Given the description of an element on the screen output the (x, y) to click on. 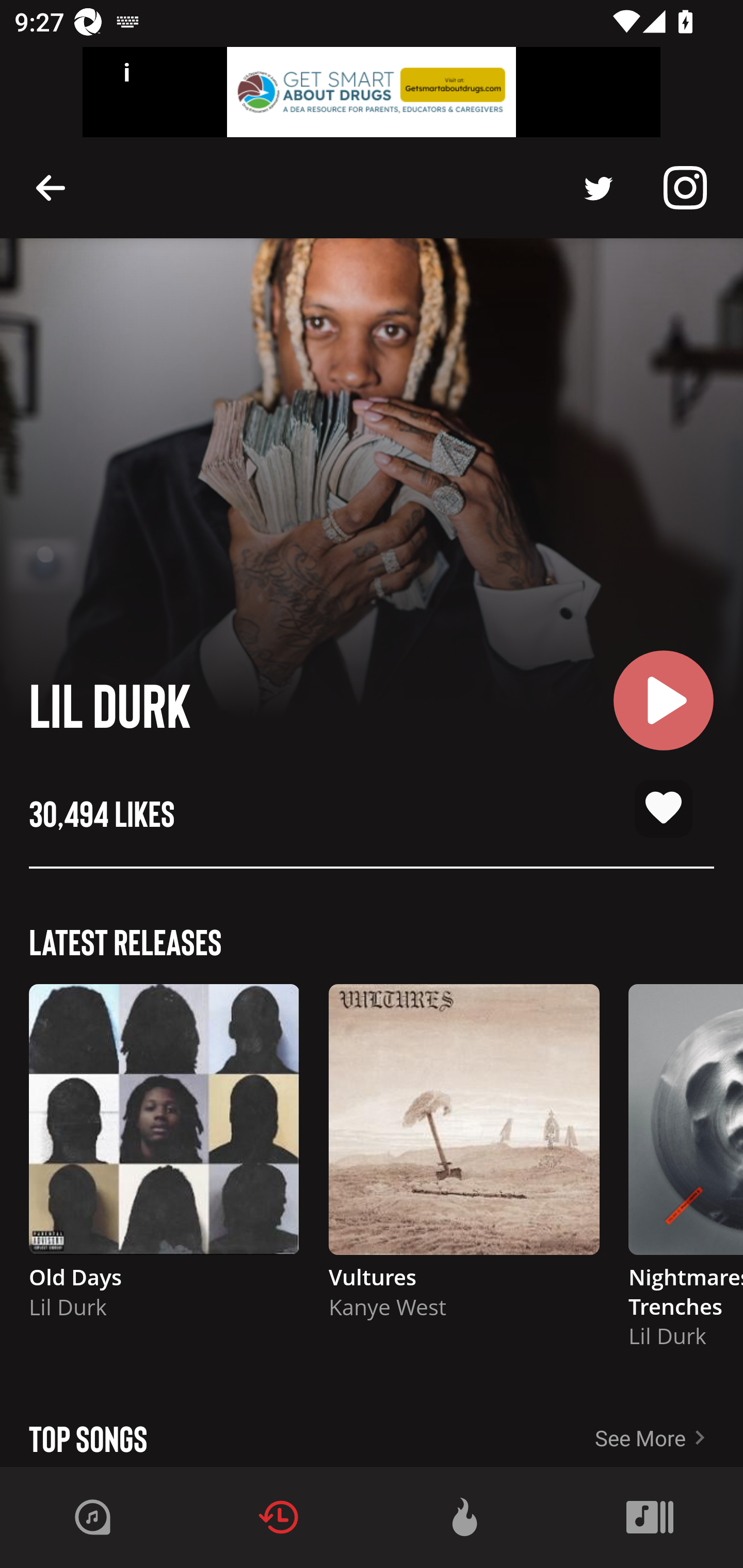
Description (50, 187)
Description (598, 188)
Description (684, 188)
Description Old Days Lil Durk (164, 1159)
Description Vultures Kanye West (463, 1159)
See More (668, 1430)
